Given the description of an element on the screen output the (x, y) to click on. 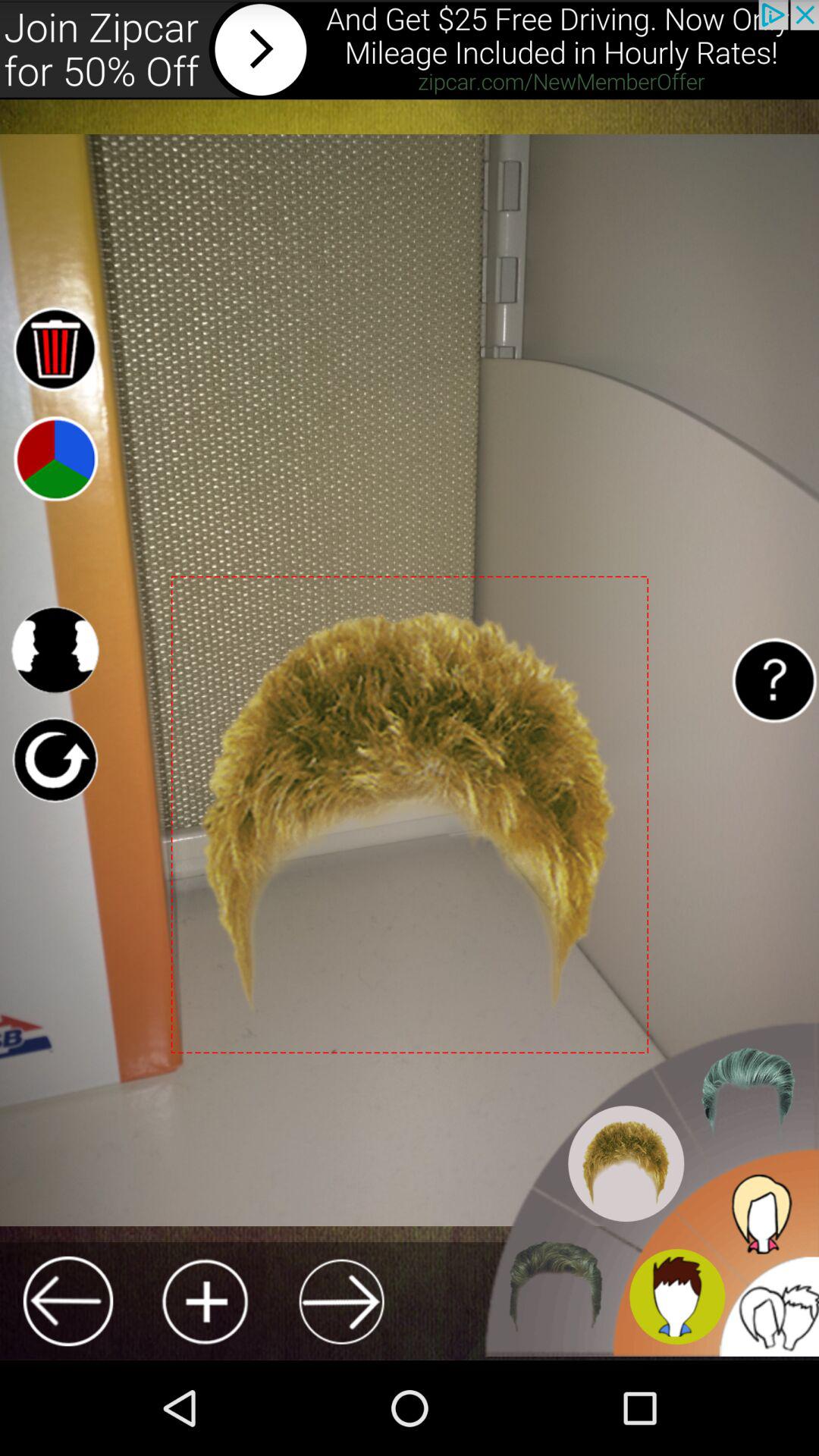
delete element (55, 348)
